Given the description of an element on the screen output the (x, y) to click on. 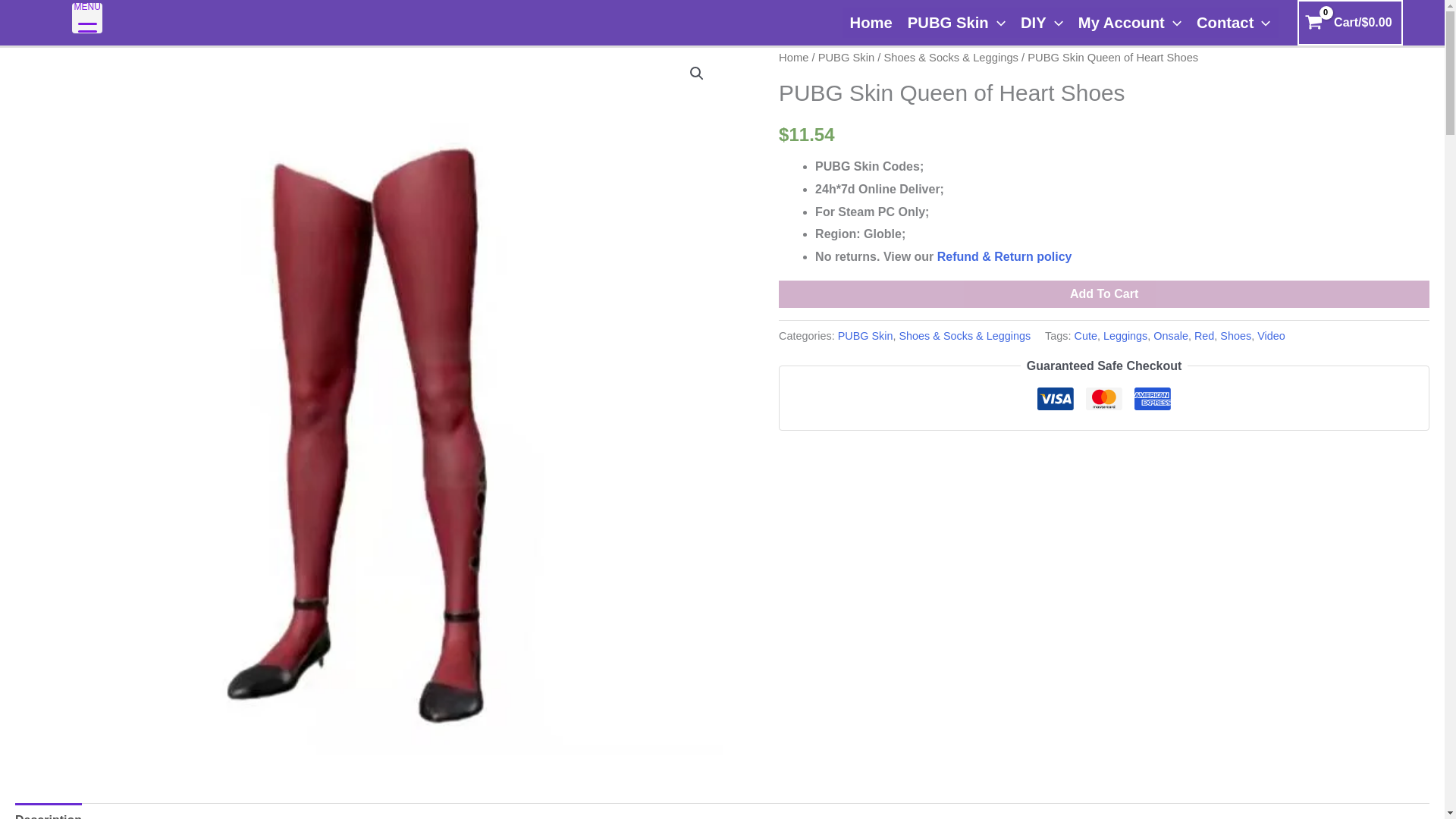
MENU (86, 18)
